Given the description of an element on the screen output the (x, y) to click on. 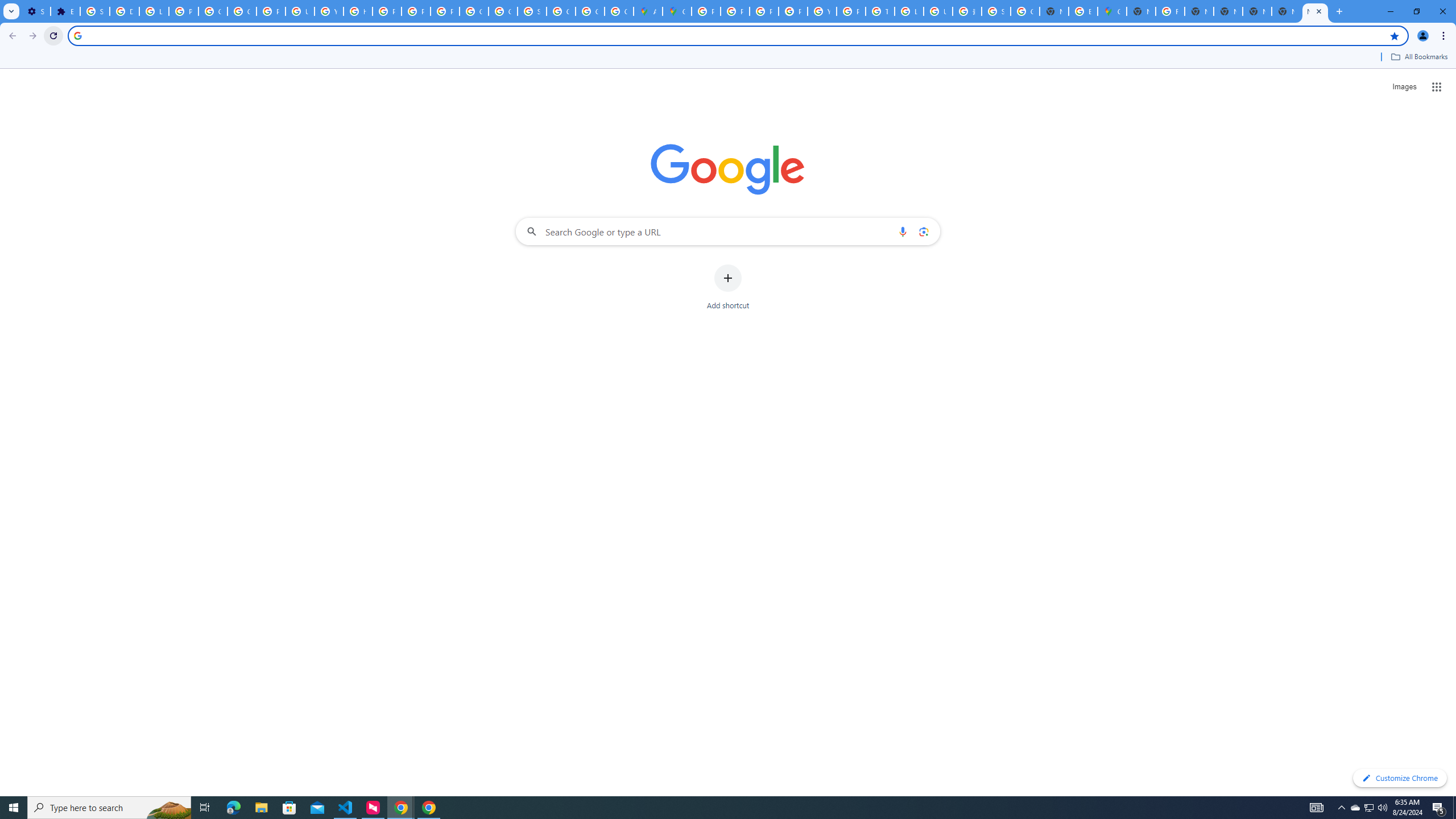
New Tab (1286, 11)
Google Maps (677, 11)
https://scholar.google.com/ (357, 11)
New Tab (1140, 11)
Google Account Help (212, 11)
Sign in - Google Accounts (996, 11)
